Given the description of an element on the screen output the (x, y) to click on. 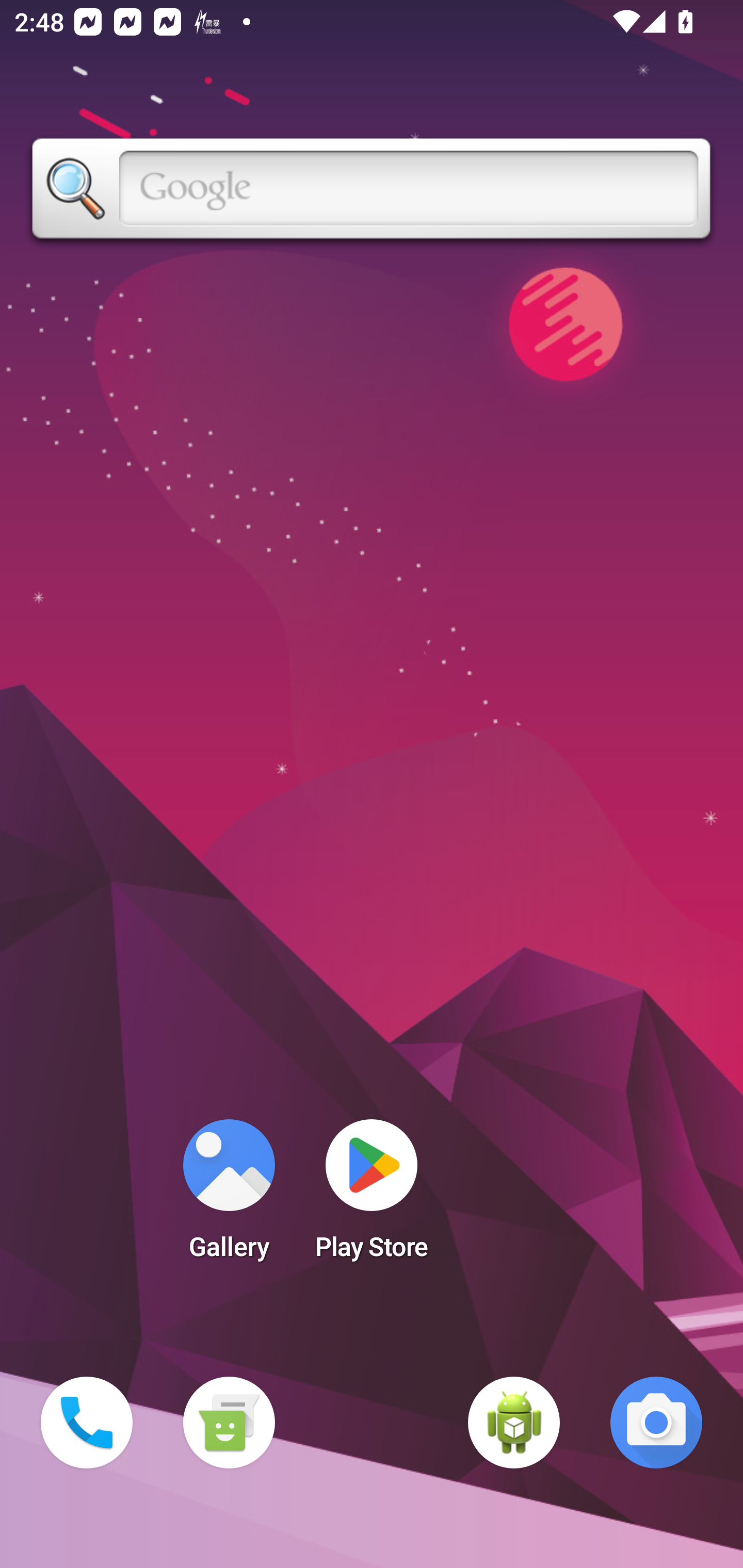
Gallery (228, 1195)
Play Store (371, 1195)
Phone (86, 1422)
Messaging (228, 1422)
WebView Browser Tester (513, 1422)
Camera (656, 1422)
